Given the description of an element on the screen output the (x, y) to click on. 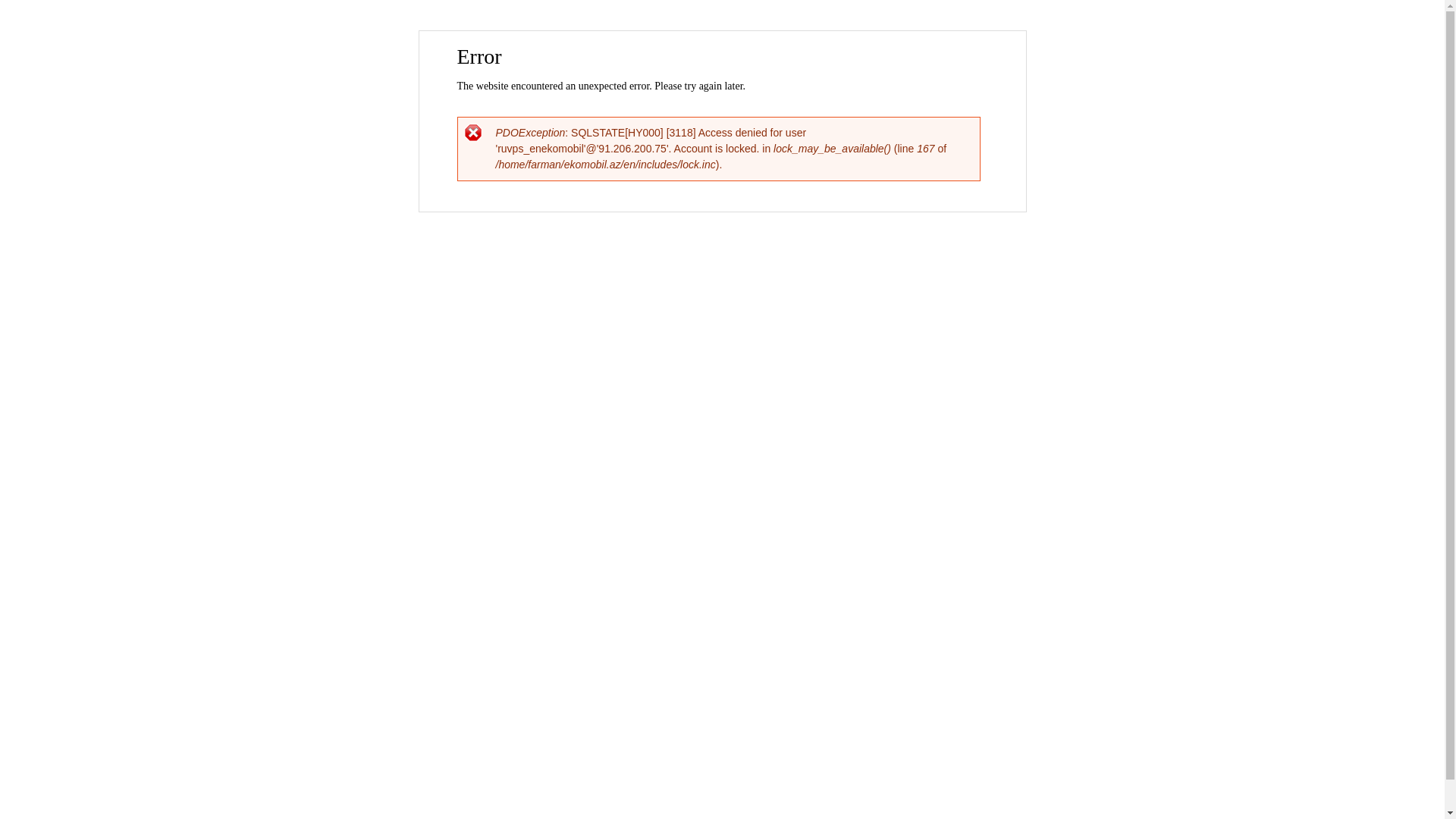
Skip to main content Element type: text (690, 31)
